Given the description of an element on the screen output the (x, y) to click on. 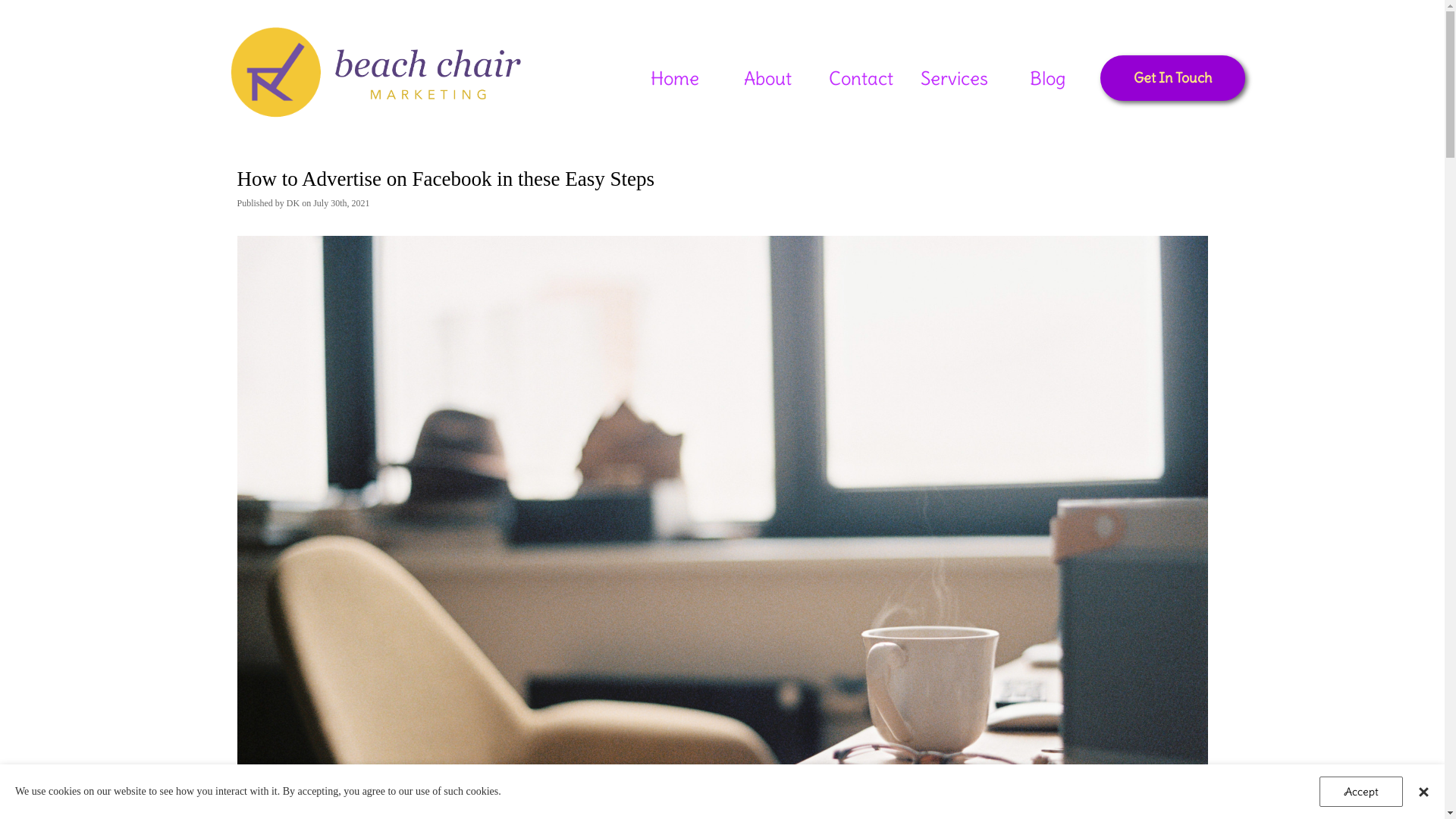
Contact Element type: text (860, 78)
Get In Touch Element type: text (1171, 77)
Home Element type: text (674, 78)
Blog Element type: text (1047, 78)
Services Element type: text (954, 78)
Logo Element type: hover (276, 64)
About Element type: text (767, 78)
Accept Element type: text (1360, 791)
How to Advertise on Facebook in these Easy Steps Element type: text (444, 178)
